Given the description of an element on the screen output the (x, y) to click on. 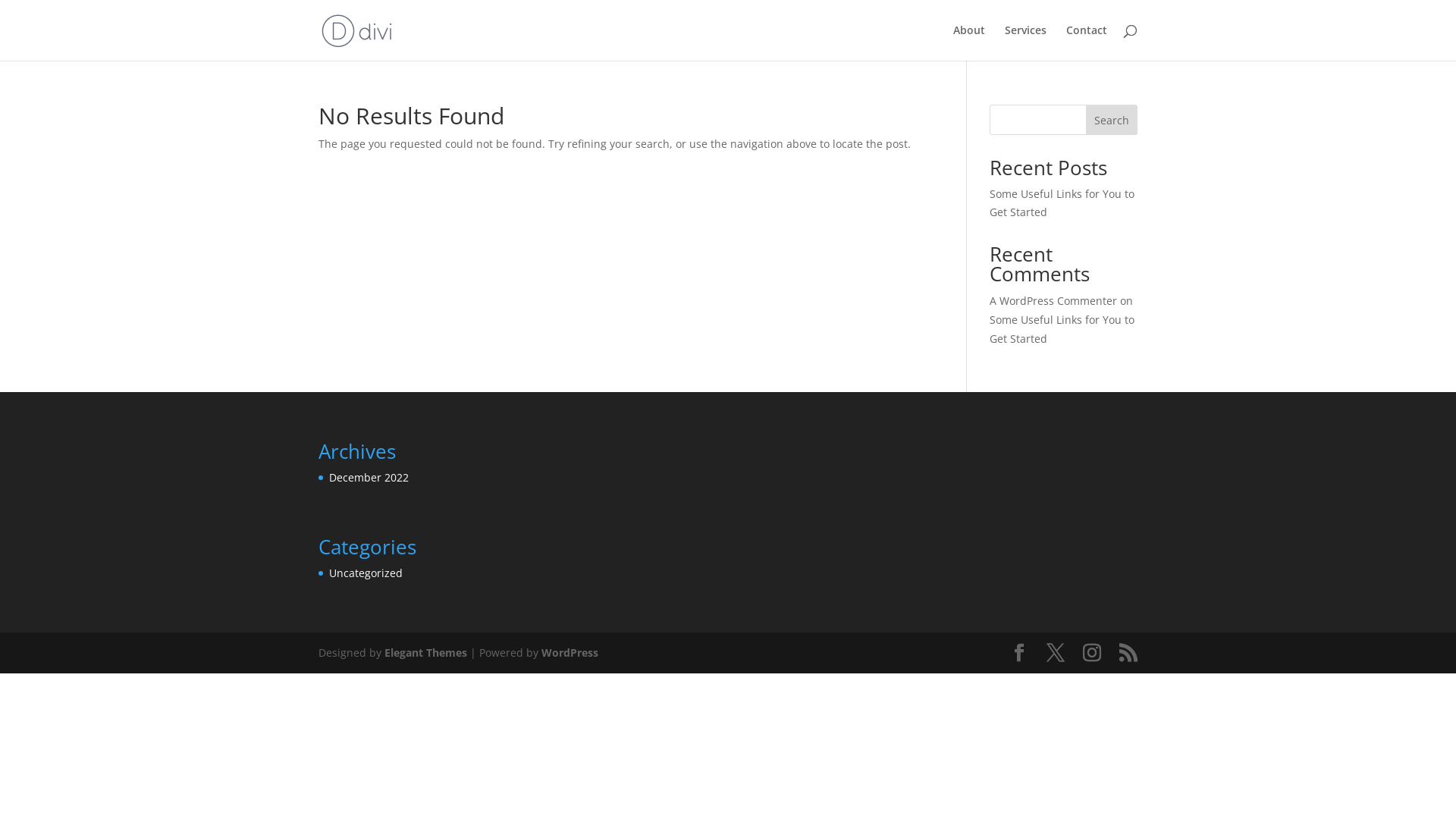
Search Element type: text (1111, 119)
Elegant Themes Element type: text (425, 652)
About Element type: text (969, 42)
WordPress Element type: text (569, 652)
Contact Element type: text (1086, 42)
December 2022 Element type: text (368, 477)
Services Element type: text (1025, 42)
Uncategorized Element type: text (365, 572)
A WordPress Commenter Element type: text (1053, 300)
Some Useful Links for You to Get Started Element type: text (1061, 328)
Some Useful Links for You to Get Started Element type: text (1061, 202)
